Given the description of an element on the screen output the (x, y) to click on. 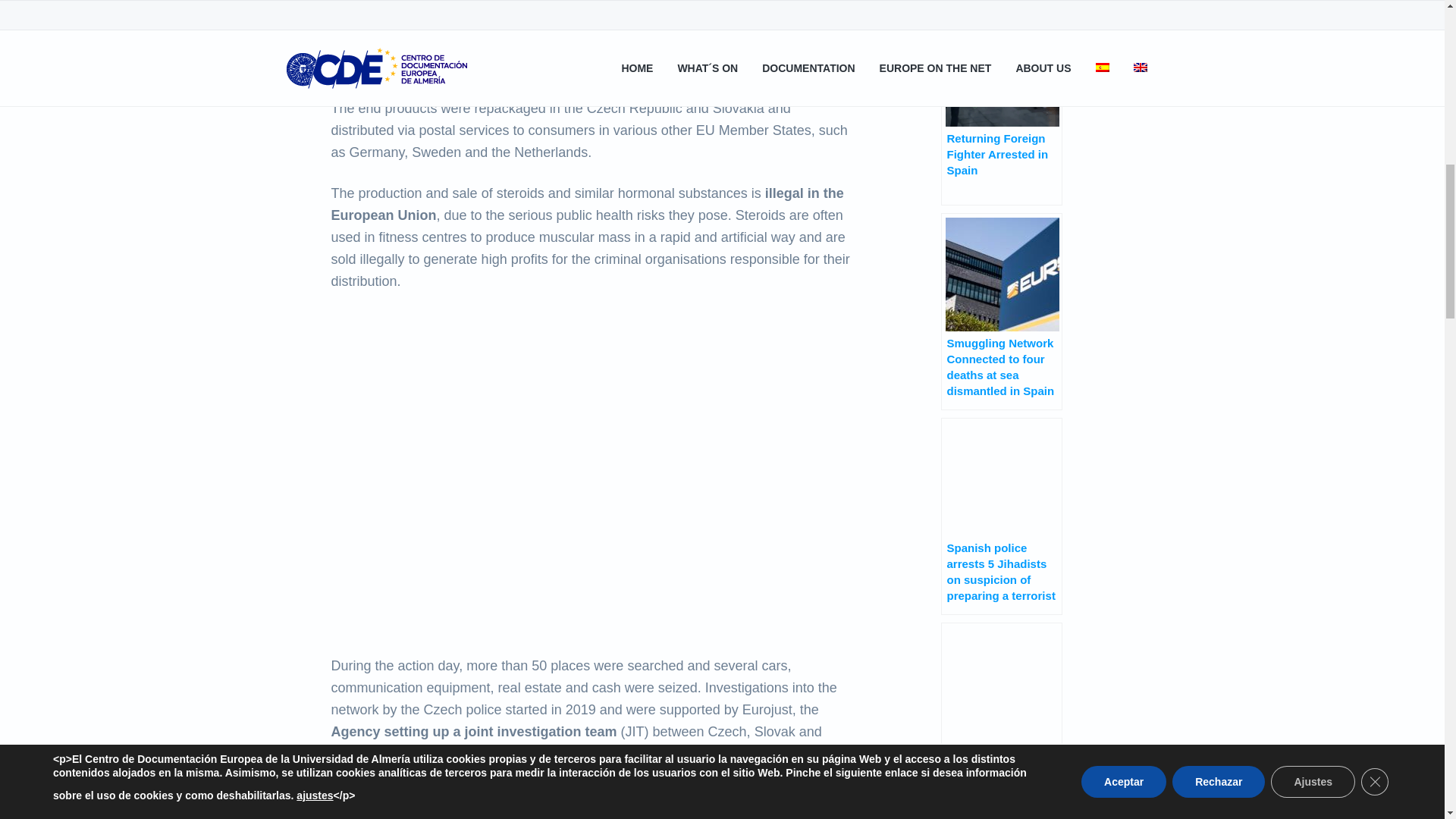
Returning Foreign Fighter Arrested in Spain (1000, 106)
